Given the description of an element on the screen output the (x, y) to click on. 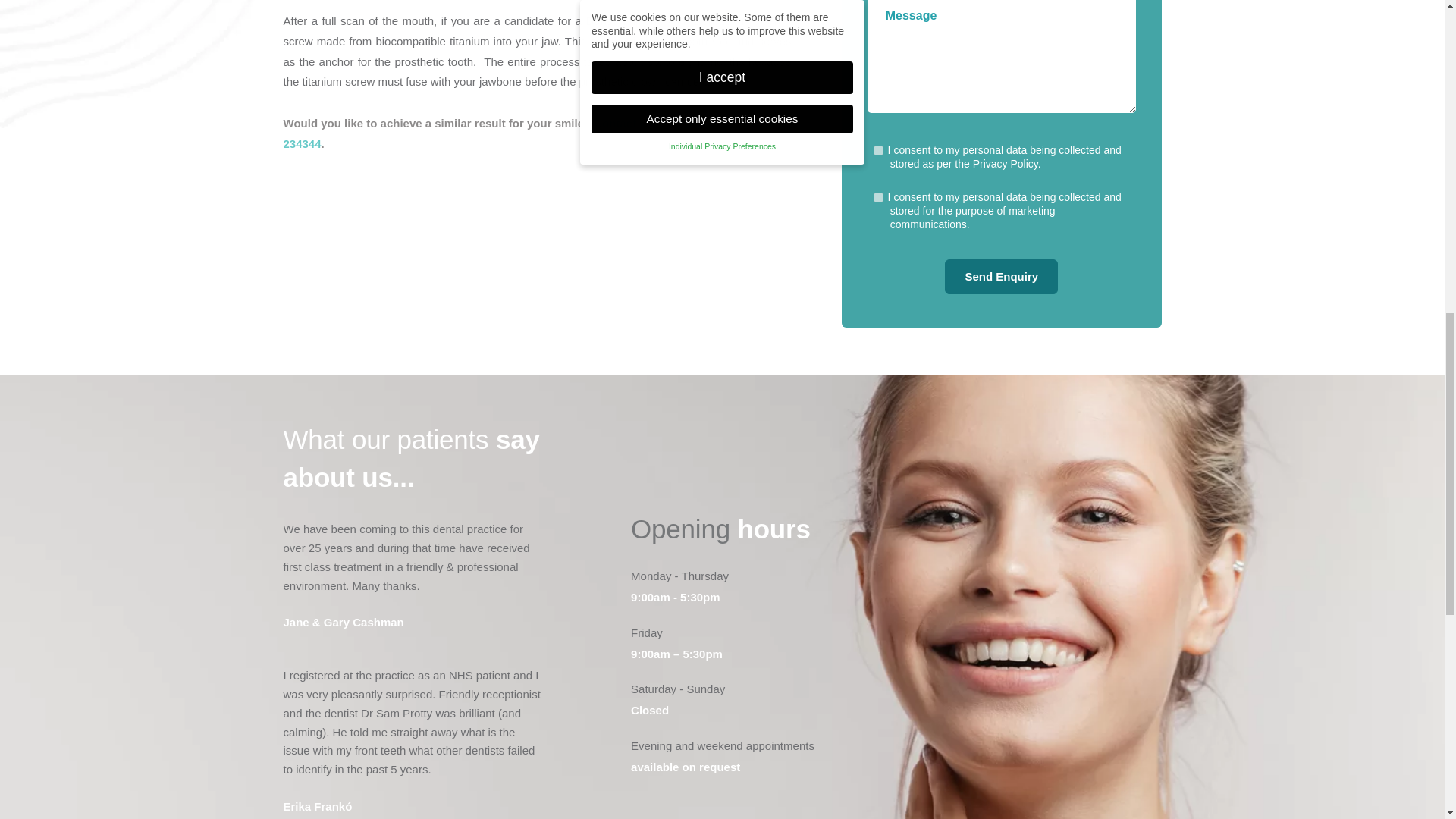
Privacy Policy (1005, 163)
Send Enquiry (1001, 276)
01895 234344 (528, 133)
Contact us (623, 123)
Send Enquiry (1001, 276)
